Given the description of an element on the screen output the (x, y) to click on. 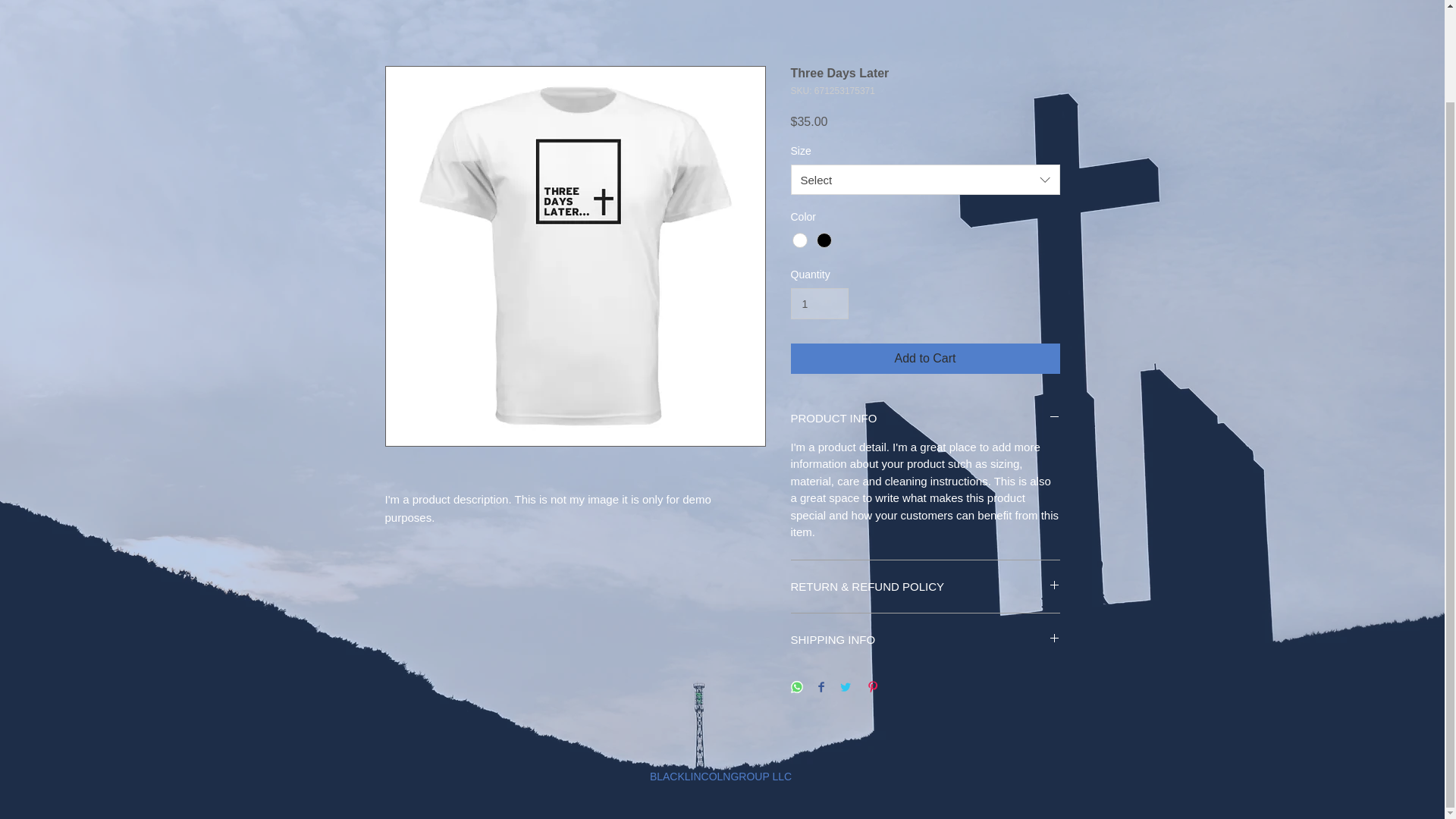
Select (924, 179)
SHIPPING INFO (924, 639)
1 (818, 303)
Add to Cart (924, 358)
PRODUCT INFO (924, 417)
